Given the description of an element on the screen output the (x, y) to click on. 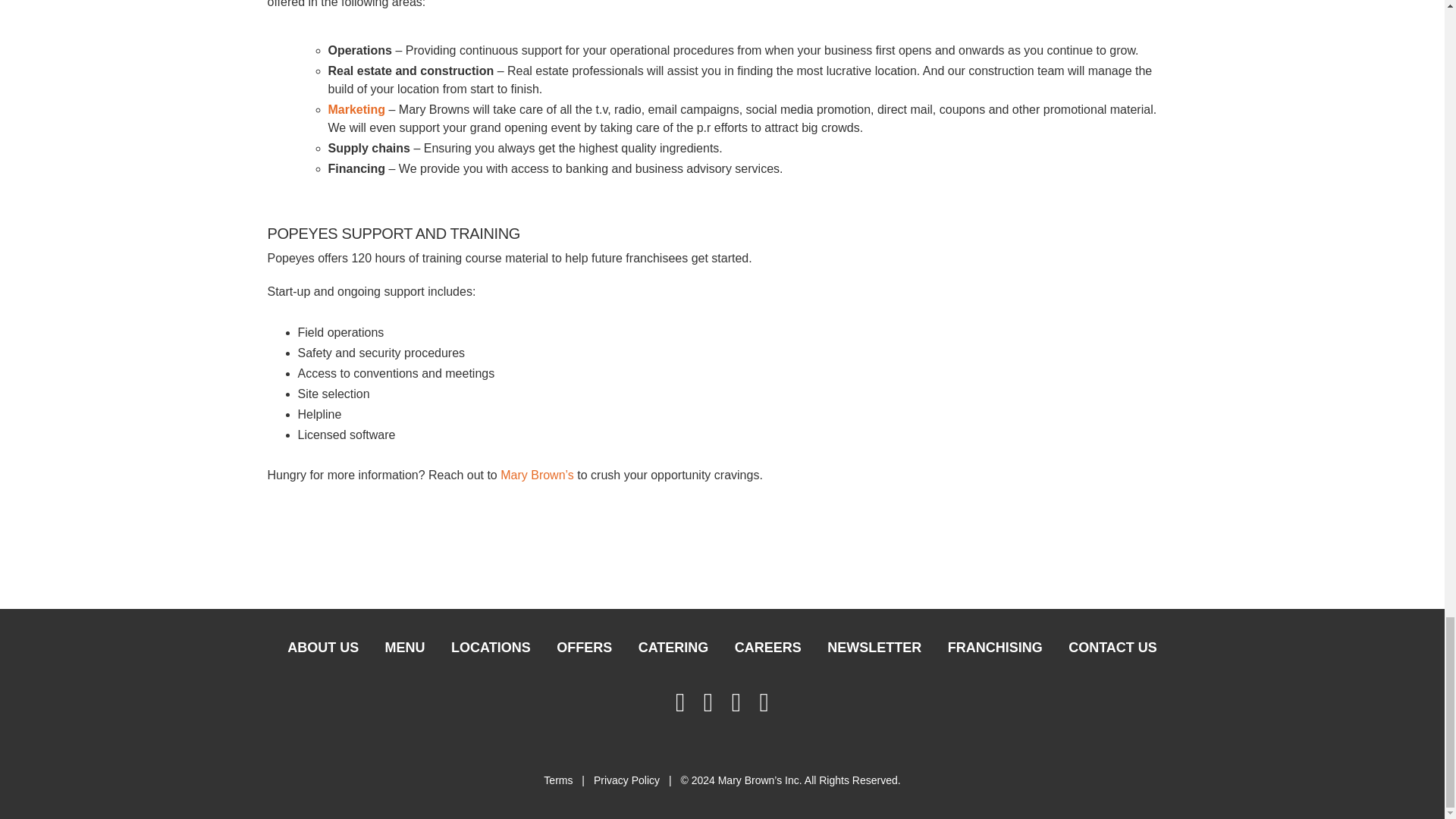
Marketing (356, 109)
CAREERS (767, 651)
LOCATIONS (490, 651)
CATERING (673, 651)
OFFERS (583, 651)
CONTACT US (1113, 651)
FRANCHISING (995, 651)
ABOUT US (322, 651)
MENU (405, 651)
NEWSLETTER (874, 651)
